Given the description of an element on the screen output the (x, y) to click on. 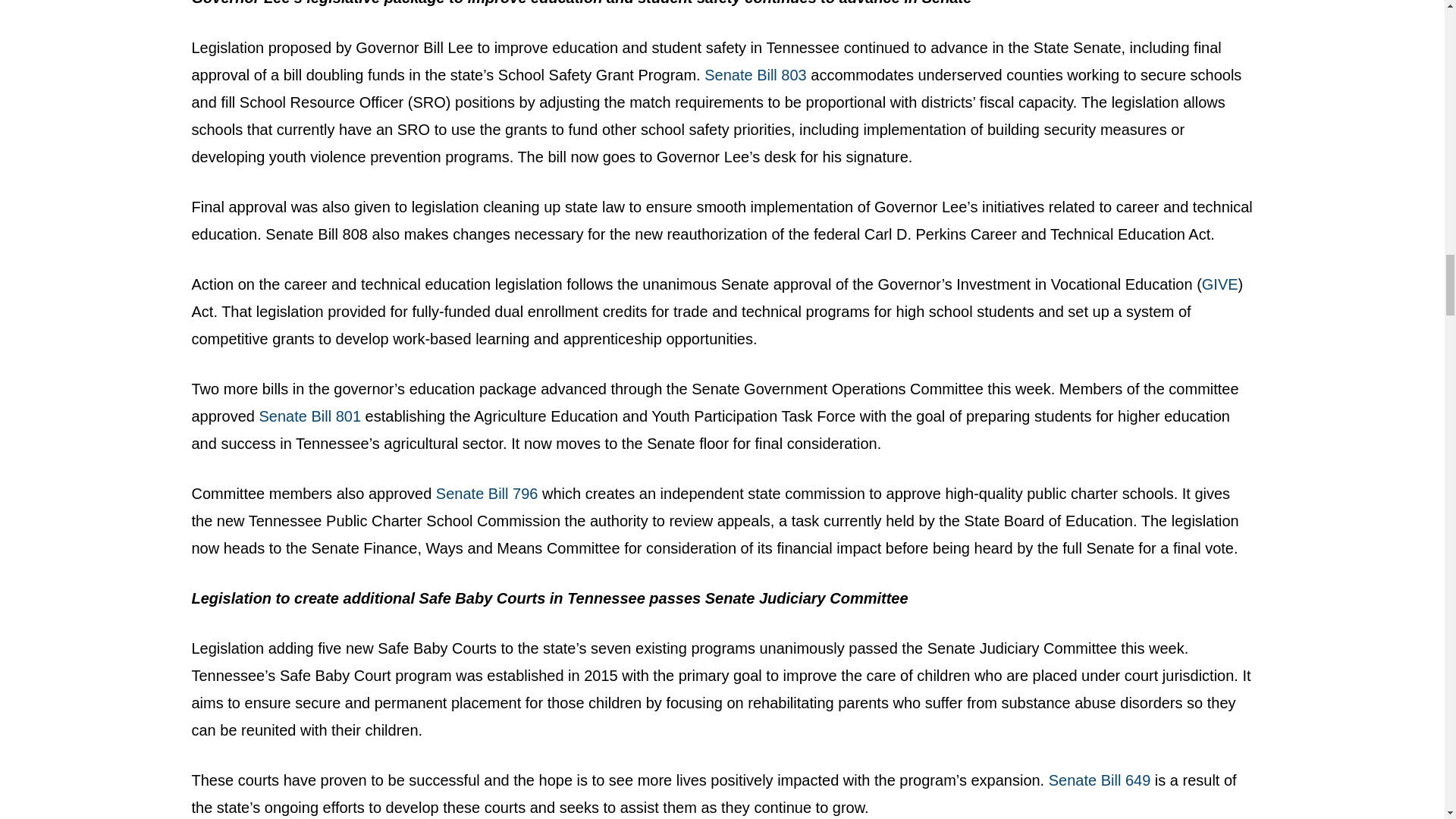
Senate Bill 649 (1099, 780)
Senate Bill 803 (753, 74)
Senate Bill 801 (310, 416)
Senate Bill 796 (486, 493)
GIVE (1220, 284)
